Given the description of an element on the screen output the (x, y) to click on. 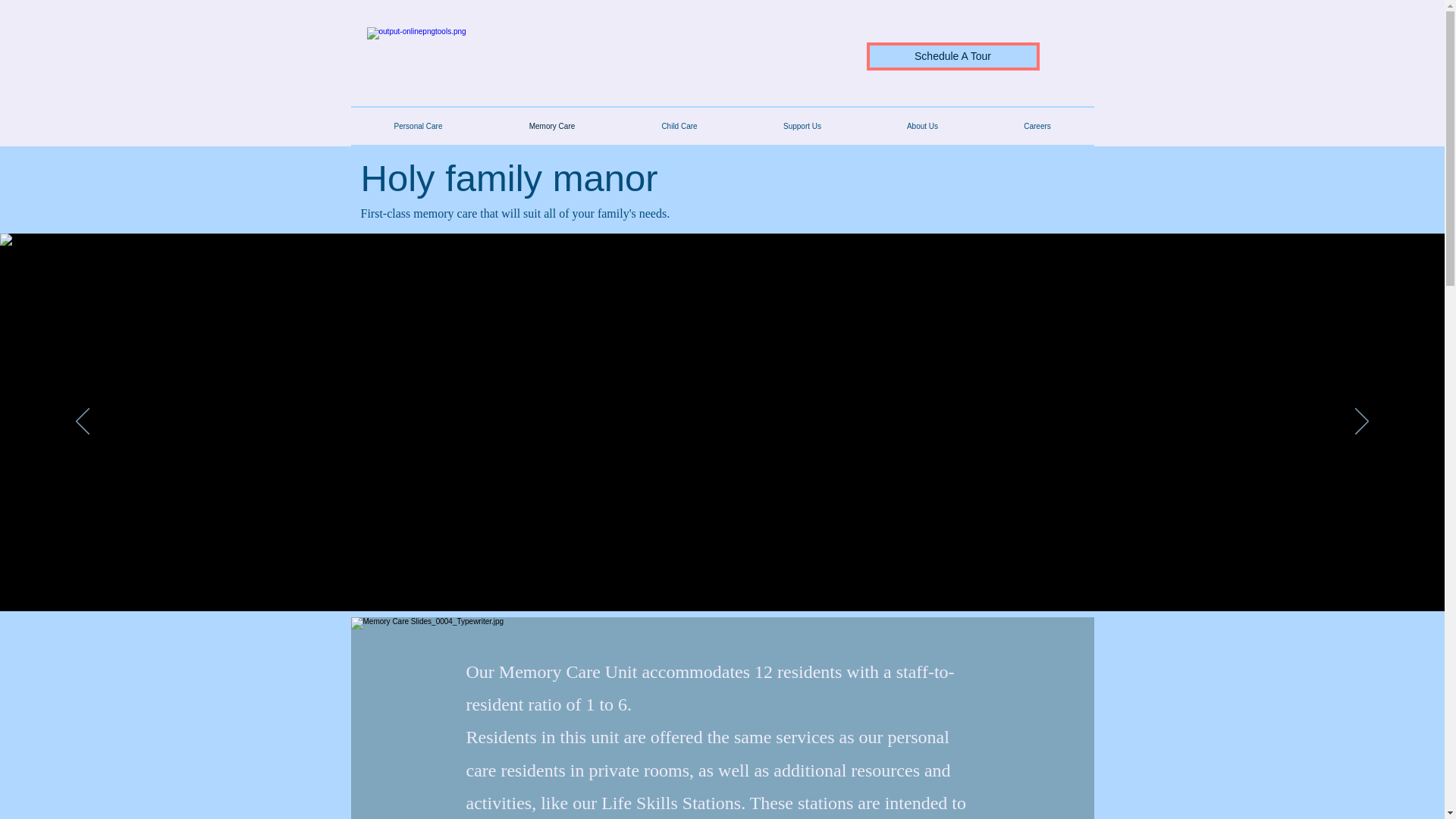
Personal Care (417, 125)
About Us (922, 125)
Support Us (801, 125)
Schedule A Tour (952, 56)
Memory Care (550, 125)
Careers (1037, 125)
Life Skills Stations (671, 803)
Memory Care Unit (568, 671)
Child Care (679, 125)
